Given the description of an element on the screen output the (x, y) to click on. 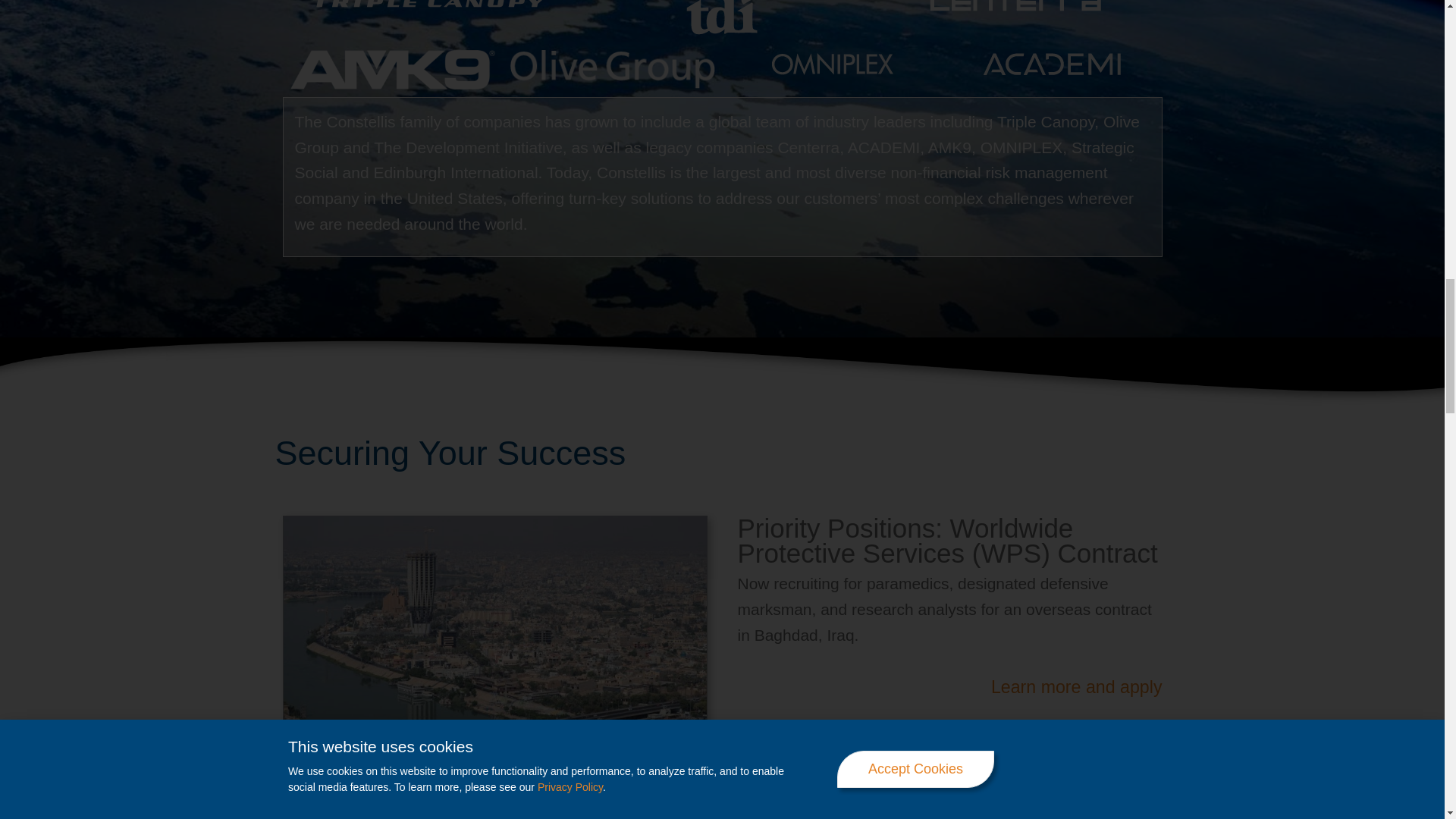
Worldwide Protective Services Hot Jobs (494, 640)
